Given the description of an element on the screen output the (x, y) to click on. 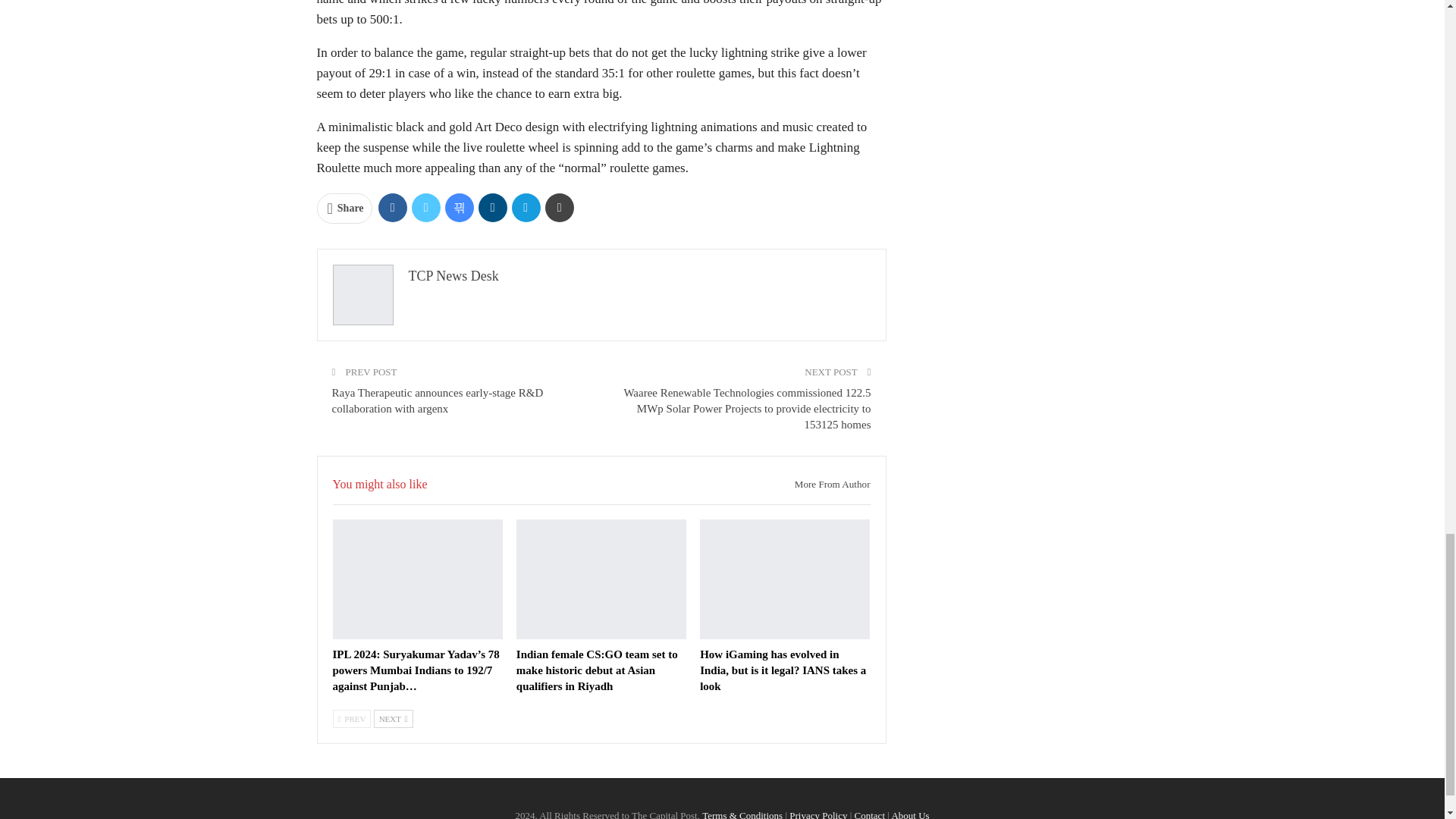
Next (393, 719)
Previous (351, 719)
